Given the description of an element on the screen output the (x, y) to click on. 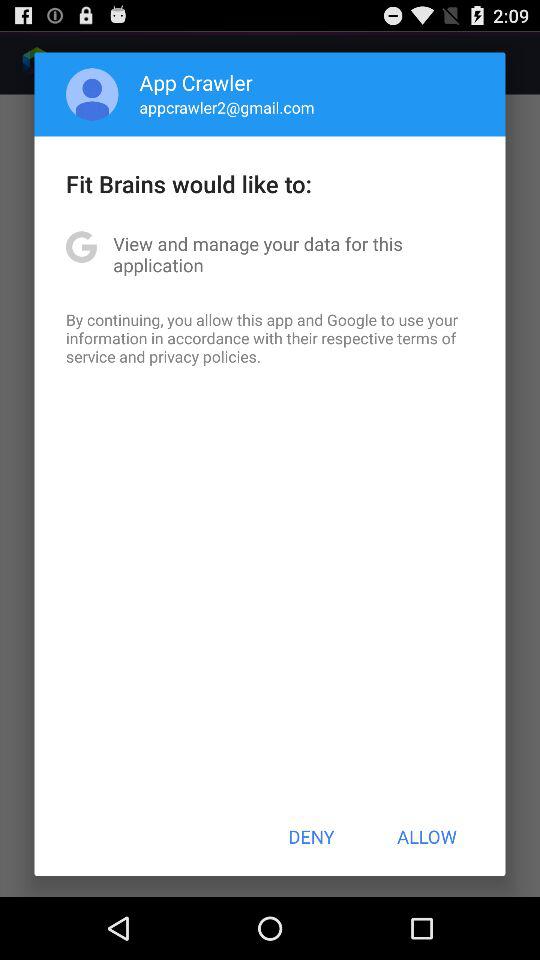
flip until appcrawler2@gmail.com (226, 107)
